Given the description of an element on the screen output the (x, y) to click on. 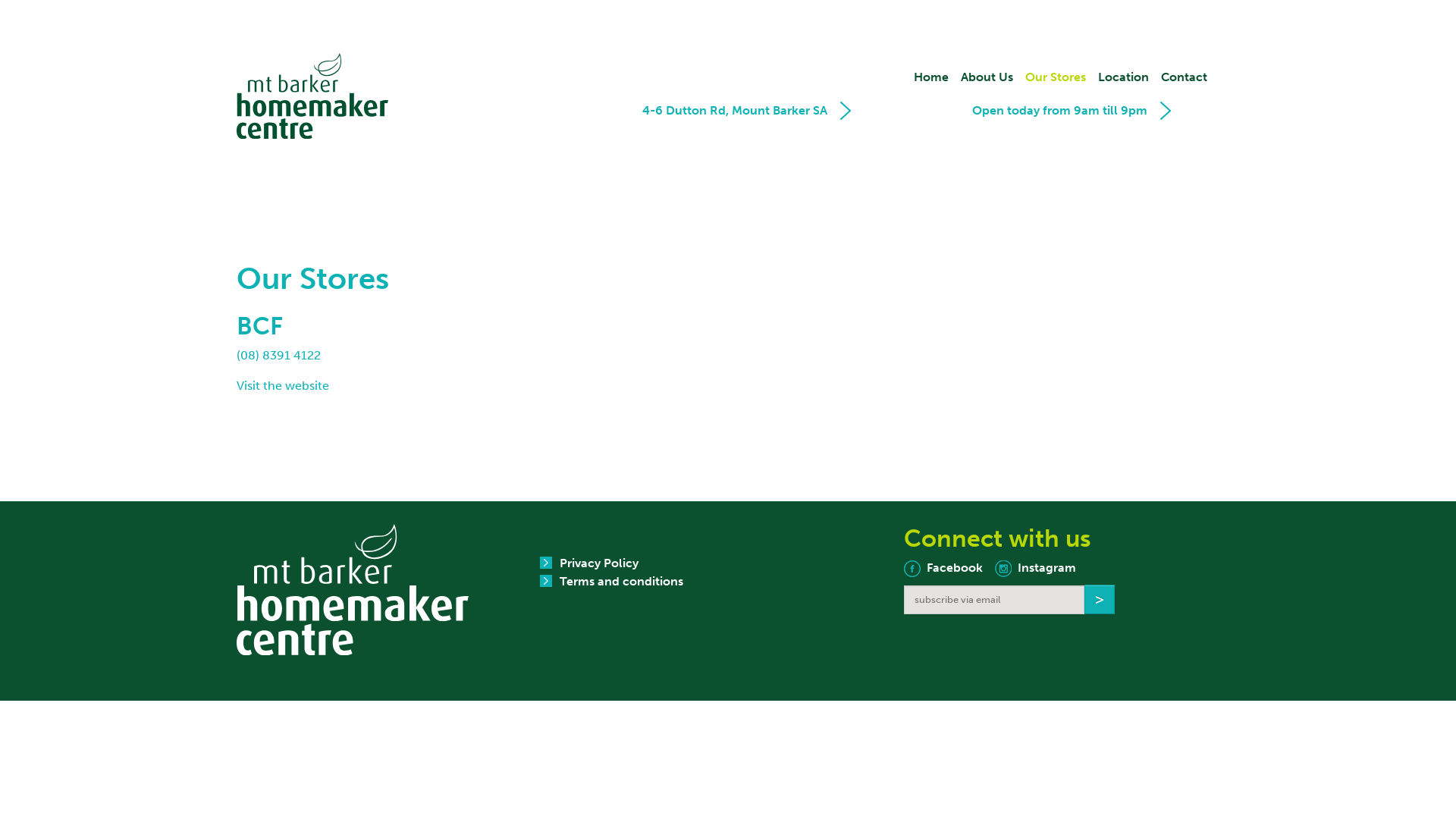
Instagram Element type: text (1035, 567)
Our Stores Element type: text (1055, 76)
About Us Element type: text (986, 76)
Location Element type: text (1123, 76)
Terms and conditions Element type: text (621, 581)
Open today from 9am till 9pm Element type: text (1059, 116)
> Element type: text (1099, 599)
Go to homepage Element type: hover (352, 588)
Facebook Element type: text (942, 567)
Contact Element type: text (1184, 76)
(08) 8391 4122 Element type: text (278, 355)
Home Element type: text (930, 76)
Visit the website Element type: text (282, 385)
4-6 Dutton Rd, Mount Barker SA Element type: text (734, 110)
Privacy Policy Element type: text (598, 562)
Go to homepage Element type: hover (312, 94)
